Given the description of an element on the screen output the (x, y) to click on. 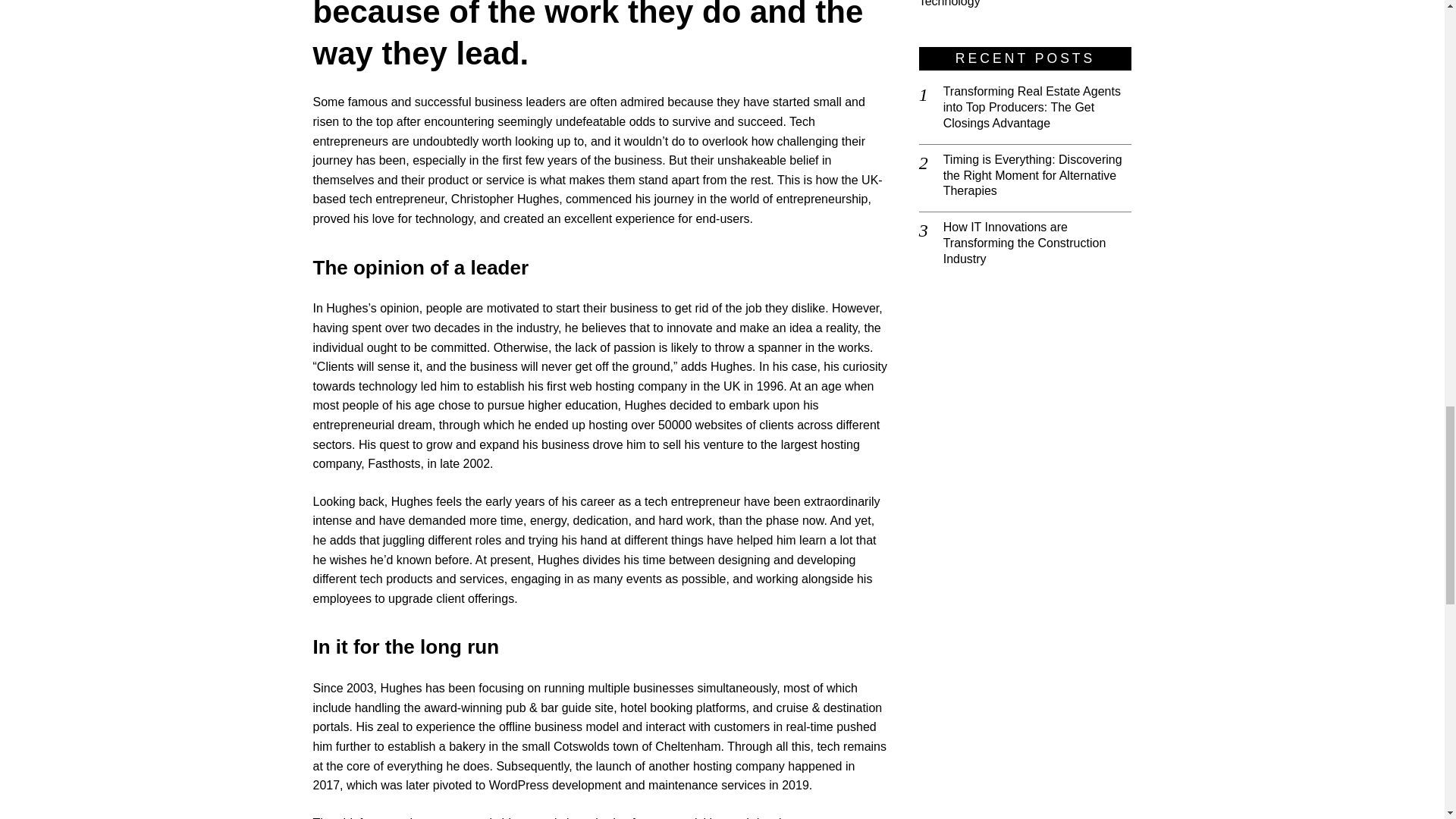
Technology (948, 3)
